Given the description of an element on the screen output the (x, y) to click on. 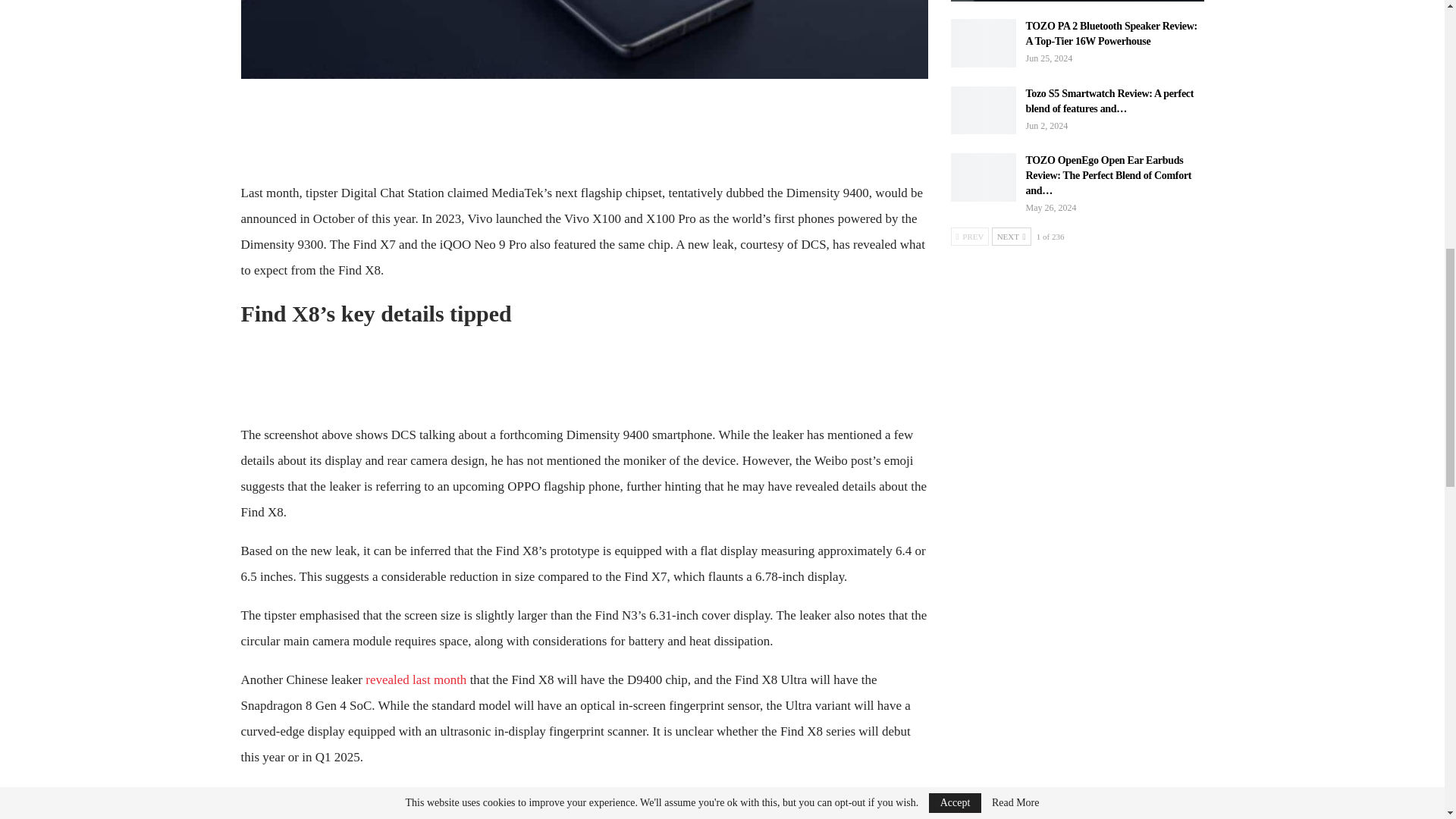
Advertisement (583, 128)
Advertisement (583, 369)
